Given the description of an element on the screen output the (x, y) to click on. 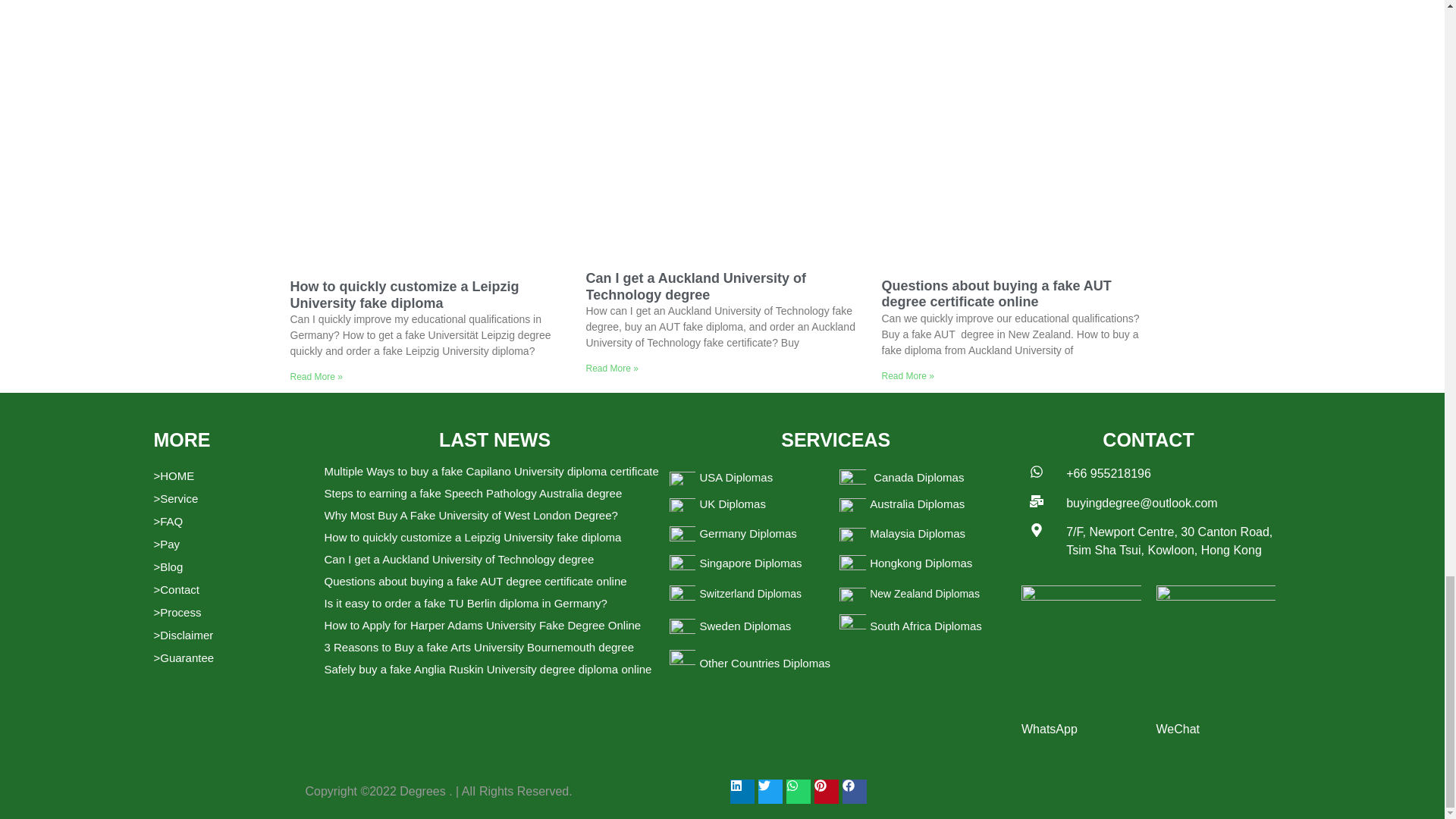
How to quickly customize a Leipzig University fake diploma (403, 295)
Questions about buying a fake AUT degree certificate online (995, 294)
Can I get a Auckland University of Technology degree (695, 286)
